Given the description of an element on the screen output the (x, y) to click on. 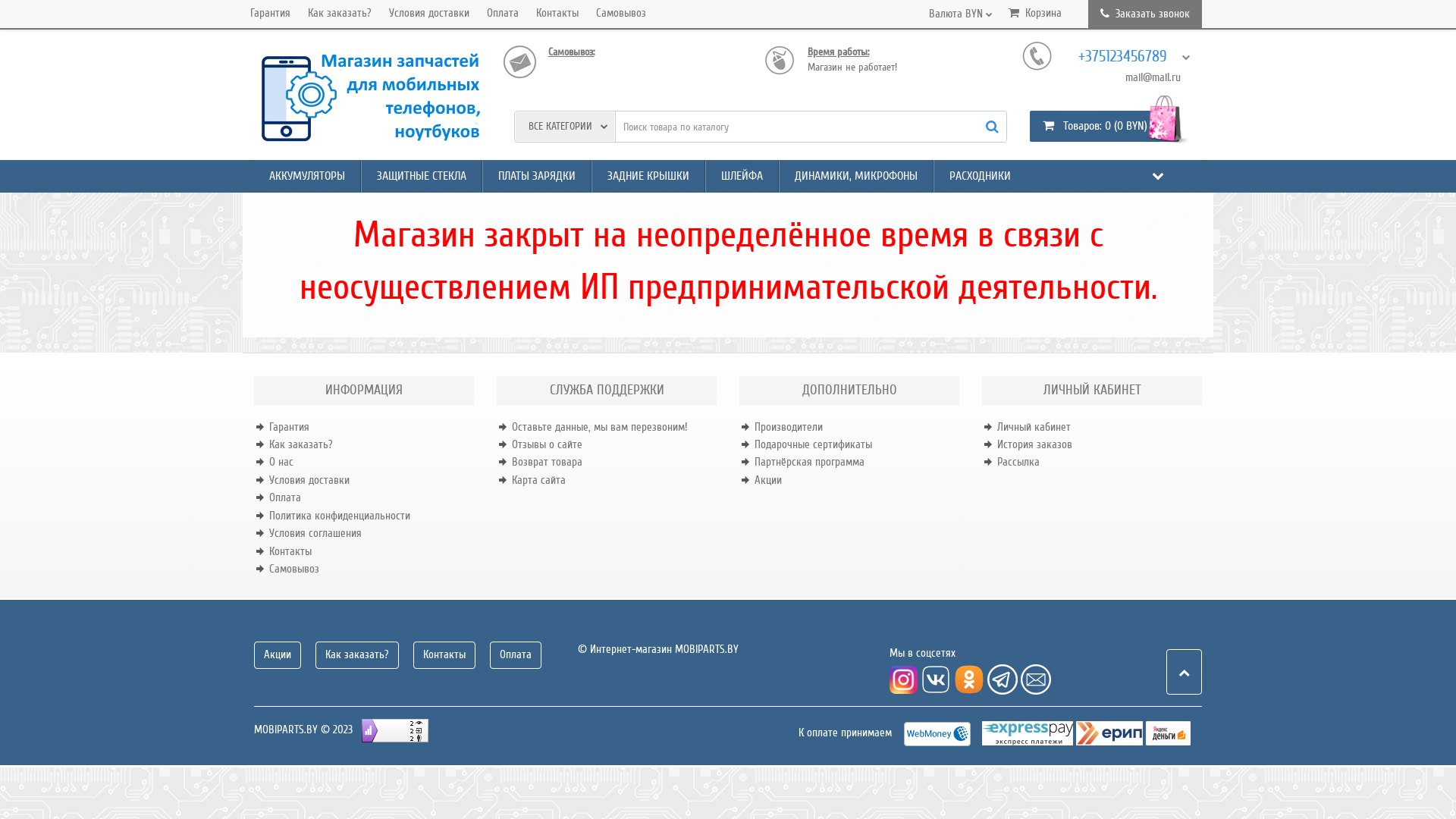
+375123456789 Element type: text (1129, 56)
MOBIPARTS.BY Element type: hover (367, 98)
